Given the description of an element on the screen output the (x, y) to click on. 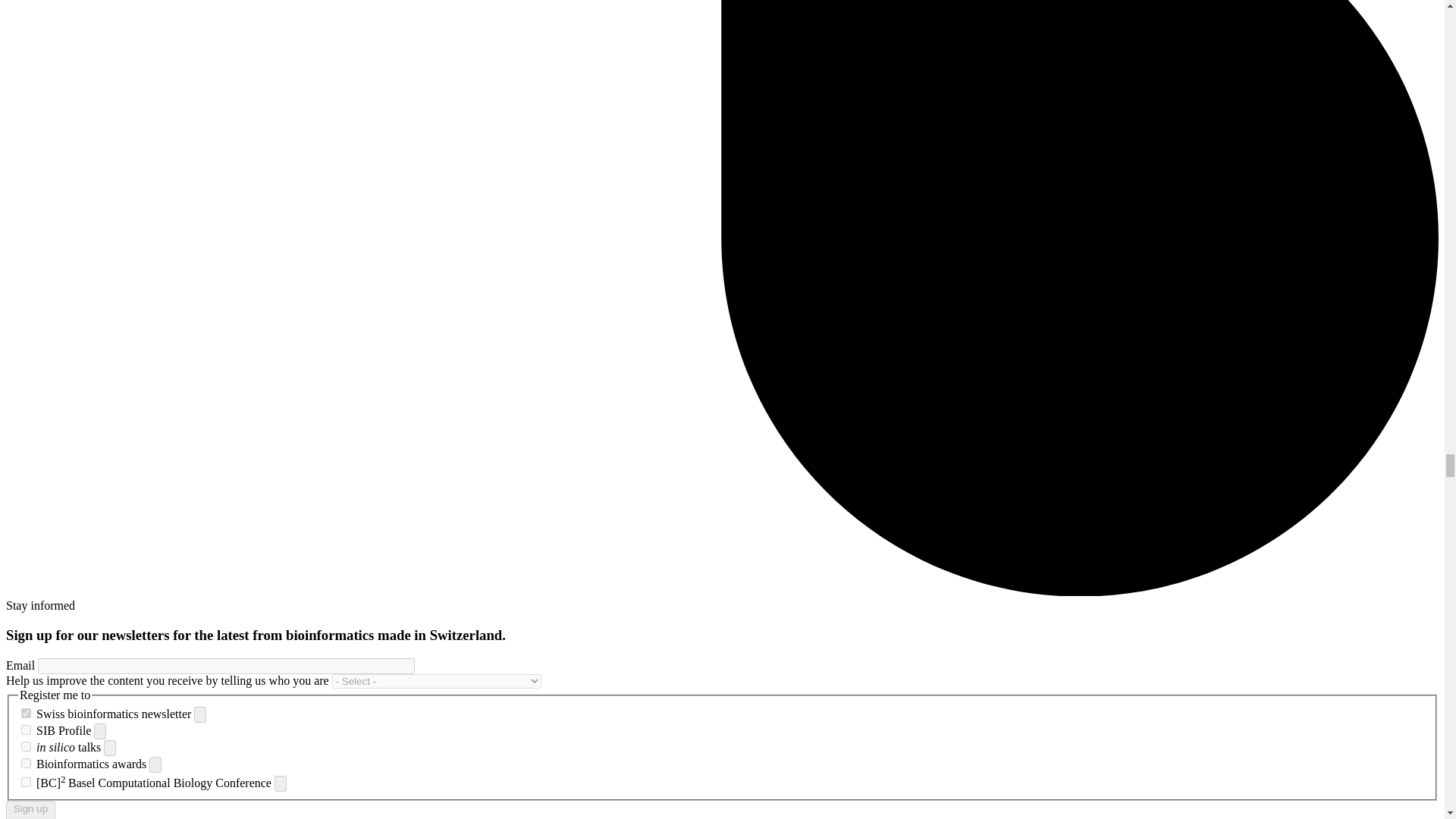
1 (25, 713)
1 (25, 729)
1 (25, 746)
1 (25, 782)
1 (25, 763)
